Given the description of an element on the screen output the (x, y) to click on. 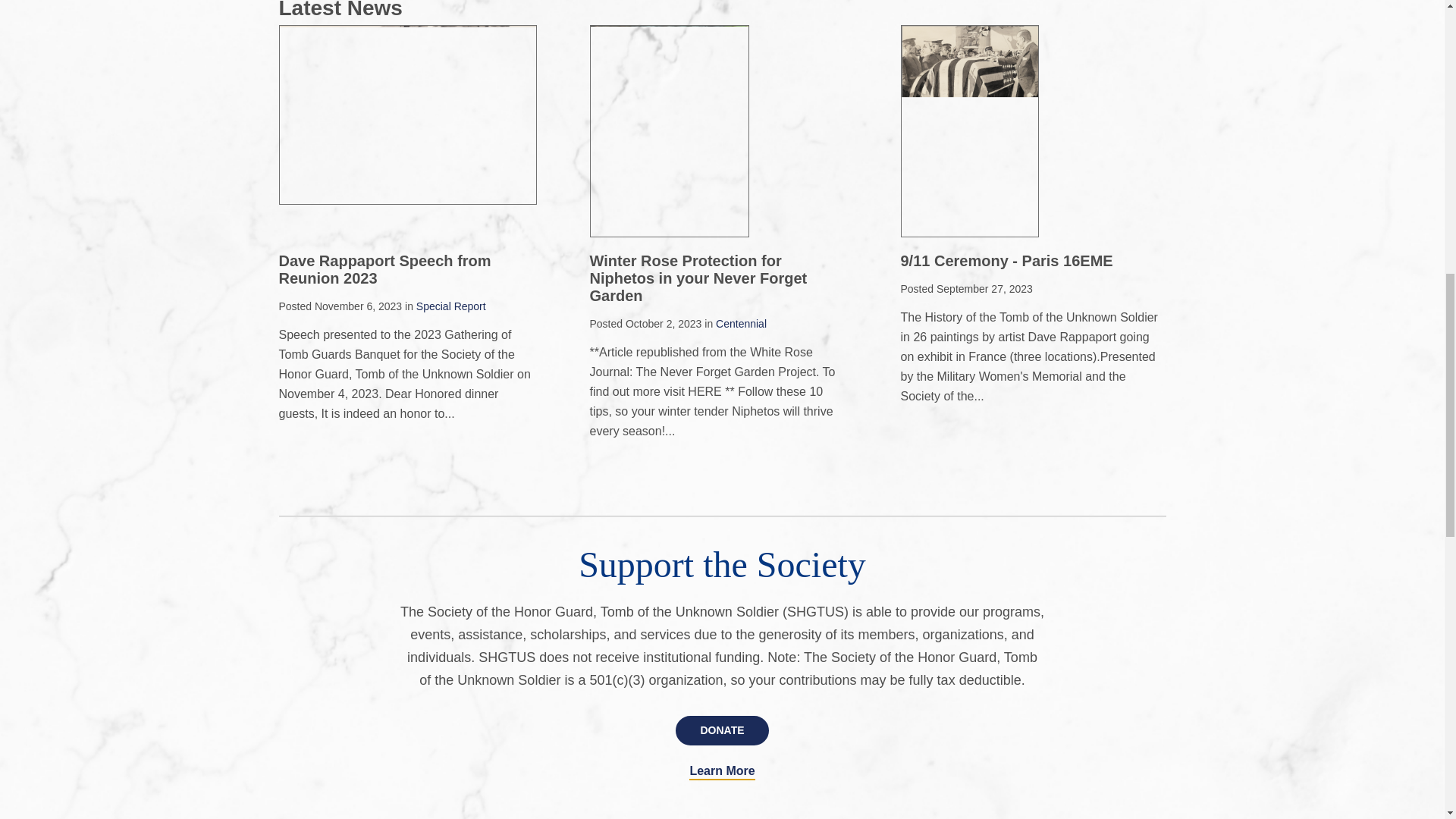
Centennial (741, 323)
Special Report (451, 306)
Learn More (721, 772)
Dave Rappaport Speech from Reunion 2023 (385, 269)
DONATE (721, 730)
